Given the description of an element on the screen output the (x, y) to click on. 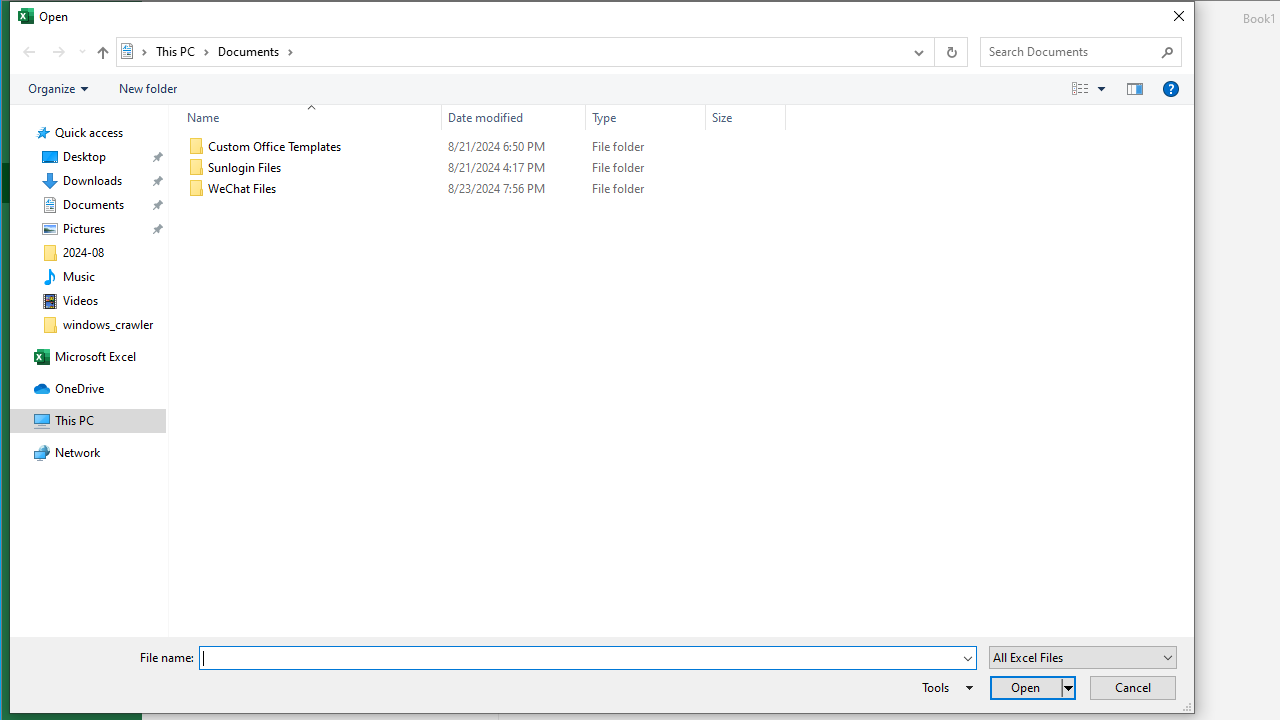
New folder (147, 89)
Filter dropdown (777, 117)
